Given the description of an element on the screen output the (x, y) to click on. 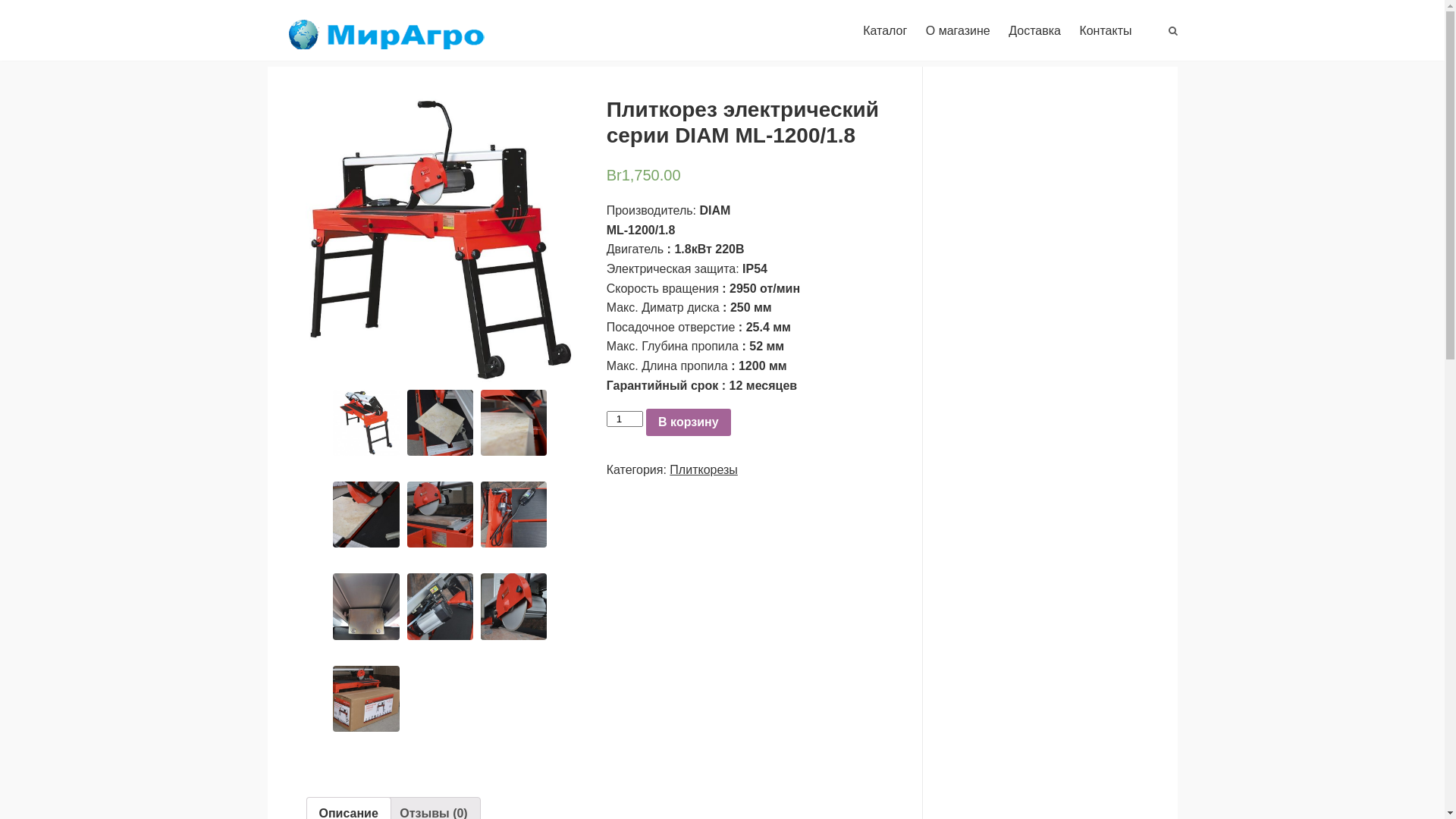
ML-1200-min Element type: hover (439, 239)
